Given the description of an element on the screen output the (x, y) to click on. 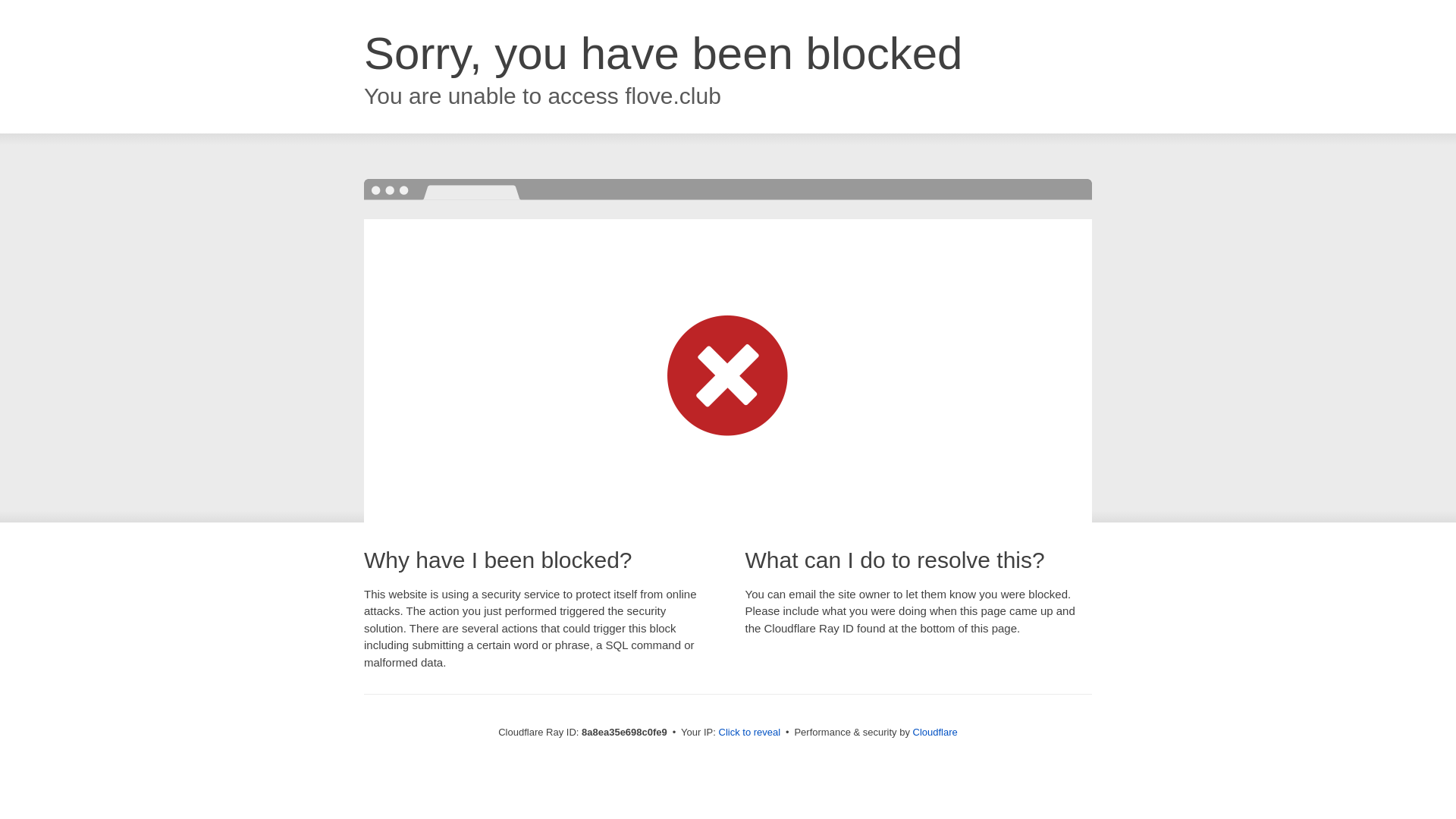
Cloudflare (935, 731)
Click to reveal (749, 732)
